Given the description of an element on the screen output the (x, y) to click on. 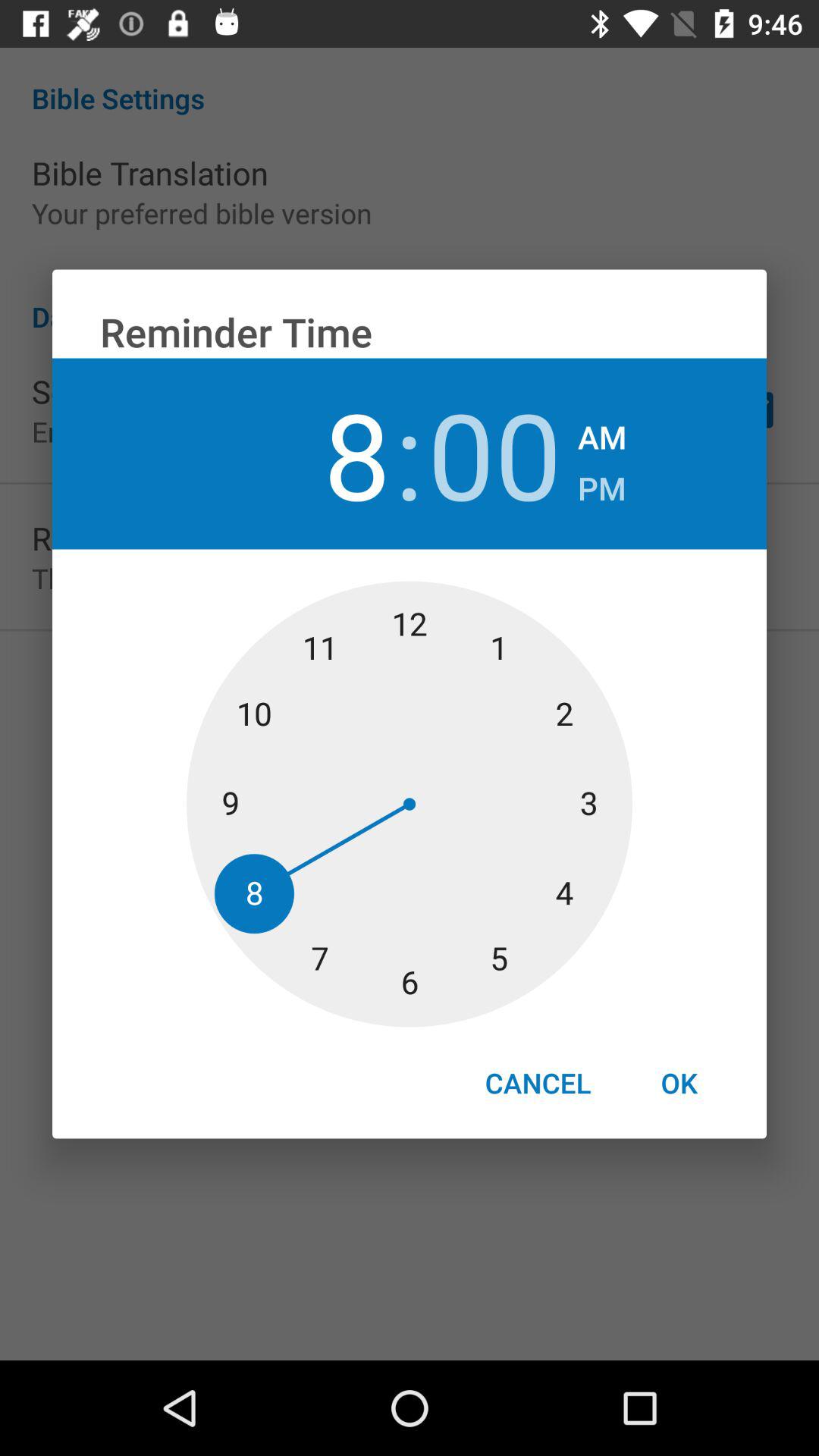
launch the item below reminder time item (601, 432)
